Given the description of an element on the screen output the (x, y) to click on. 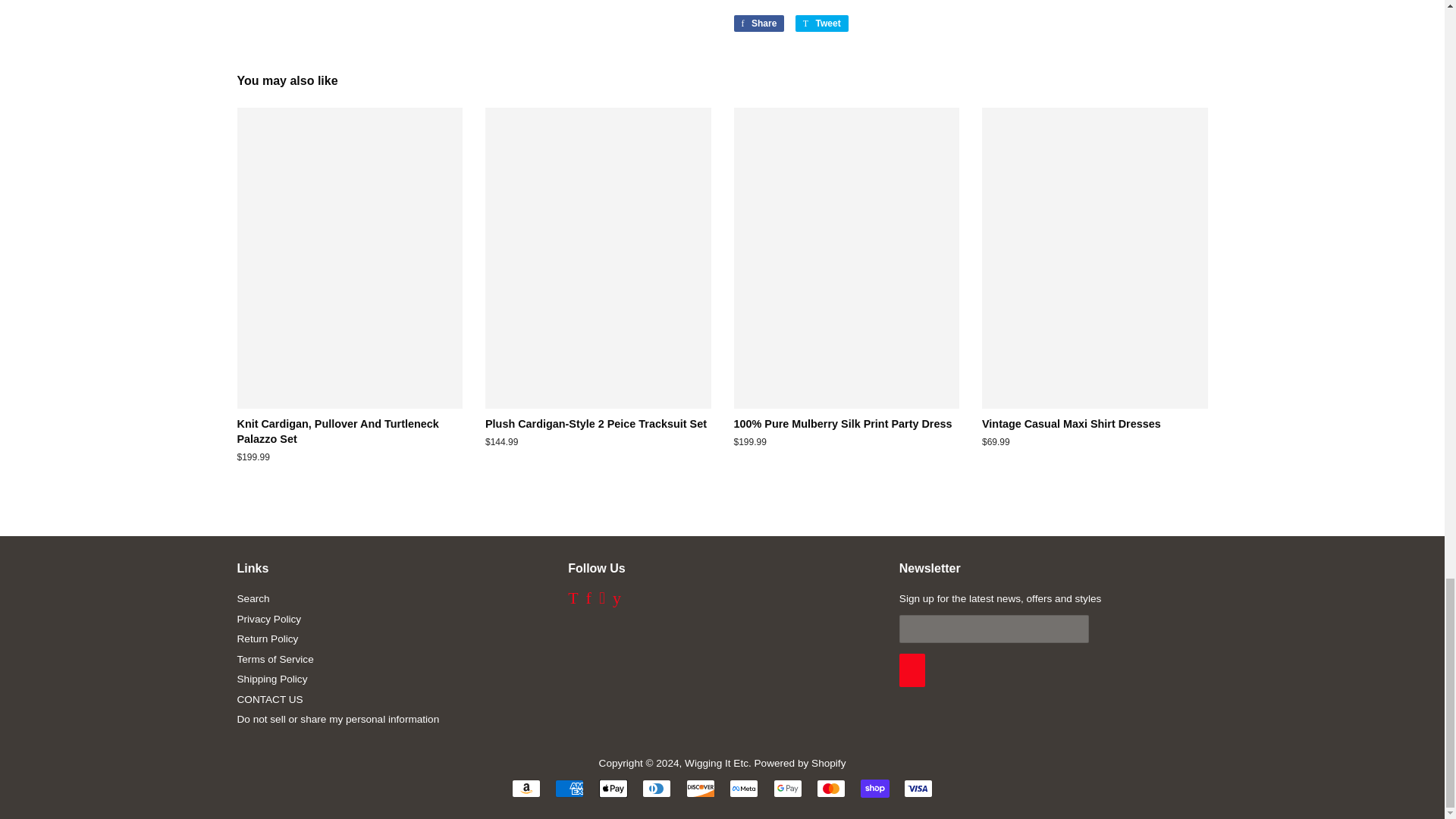
Visa (918, 788)
American Express (568, 788)
Mastercard (830, 788)
Shop Pay (874, 788)
Discover (699, 788)
Apple Pay (612, 788)
Share on Facebook (758, 23)
Diners Club (656, 788)
Tweet on Twitter (821, 23)
Amazon (526, 788)
Google Pay (787, 788)
Meta Pay (743, 788)
